Given the description of an element on the screen output the (x, y) to click on. 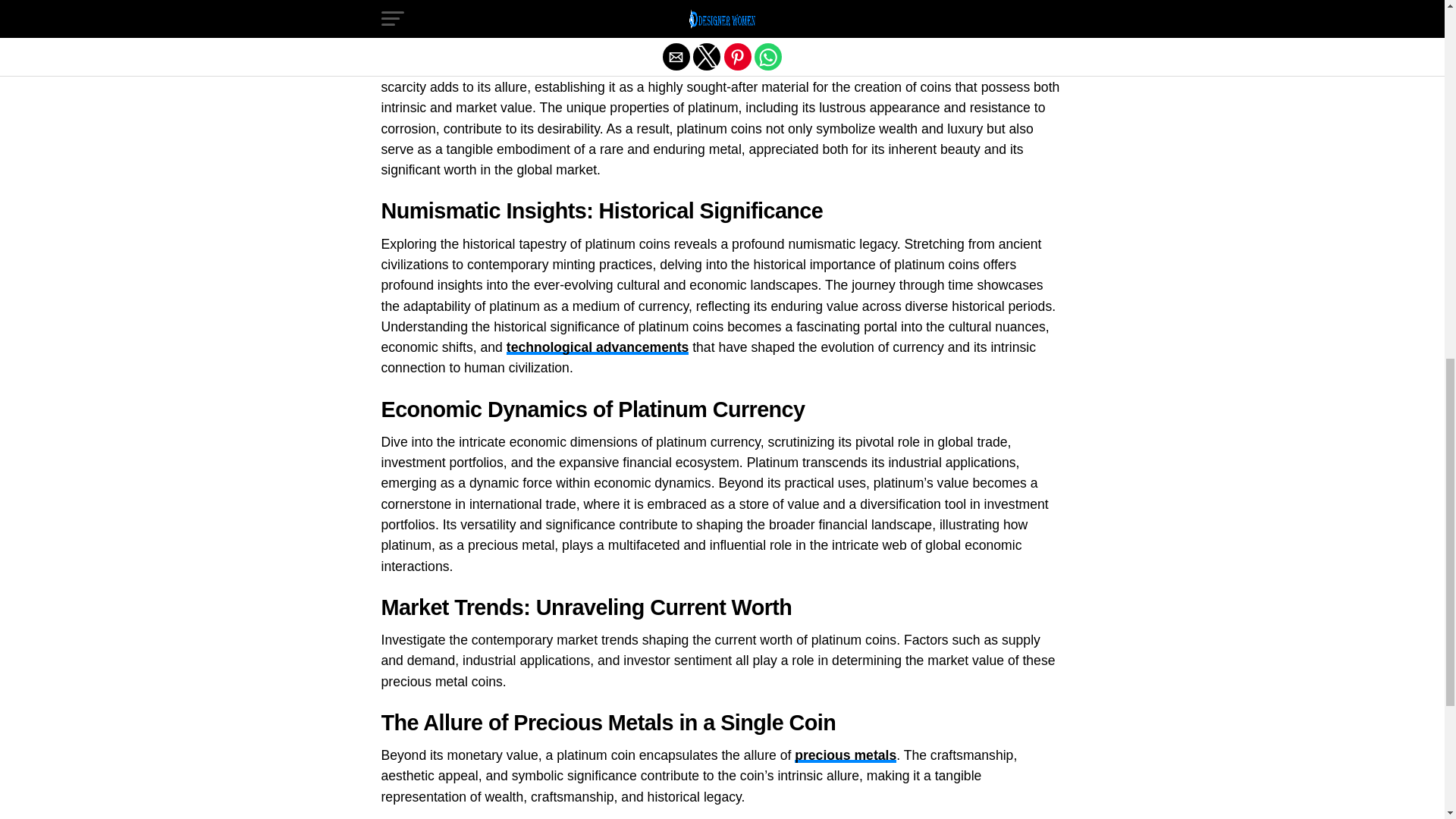
precious metals (845, 754)
technological advancements (597, 346)
